Given the description of an element on the screen output the (x, y) to click on. 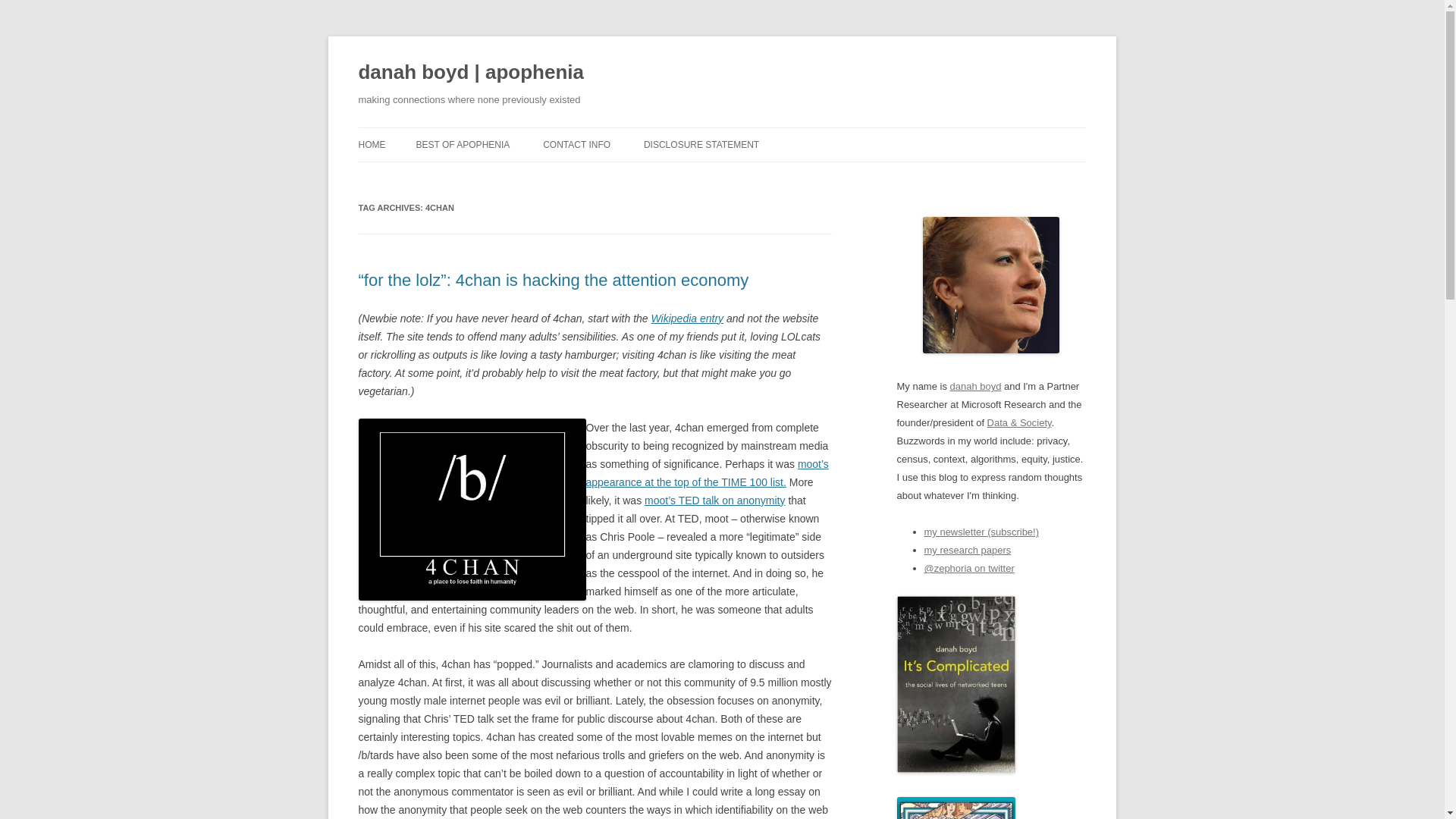
CONTACT INFO (576, 144)
my research papers (966, 550)
danah boyd (975, 386)
DISCLOSURE STATEMENT (700, 144)
Wikipedia entry (686, 318)
BEST OF APOPHENIA (461, 144)
